Given the description of an element on the screen output the (x, y) to click on. 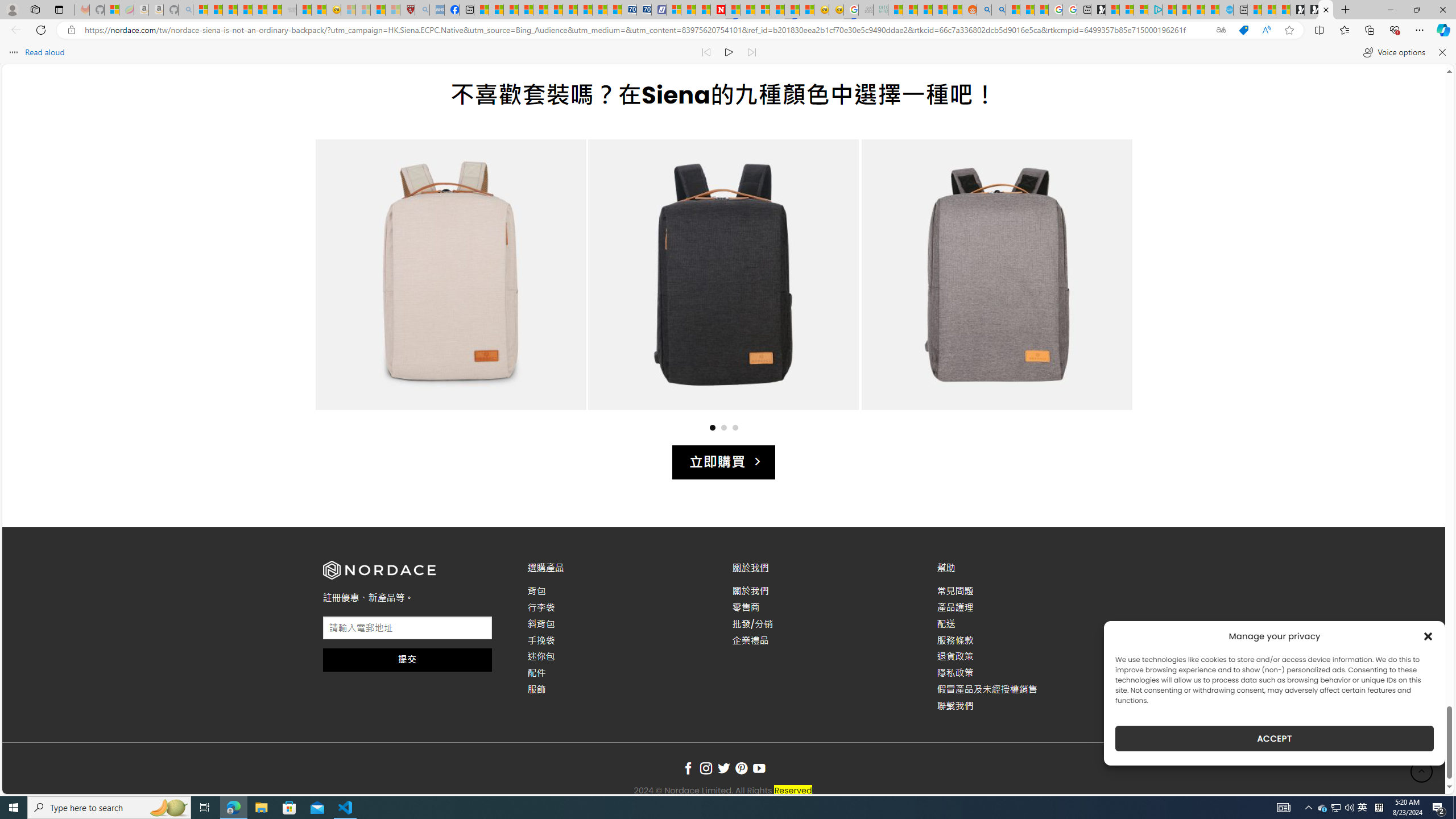
AutomationID: field_4_1 (406, 628)
Class: cmplz-close (1428, 636)
